Given the description of an element on the screen output the (x, y) to click on. 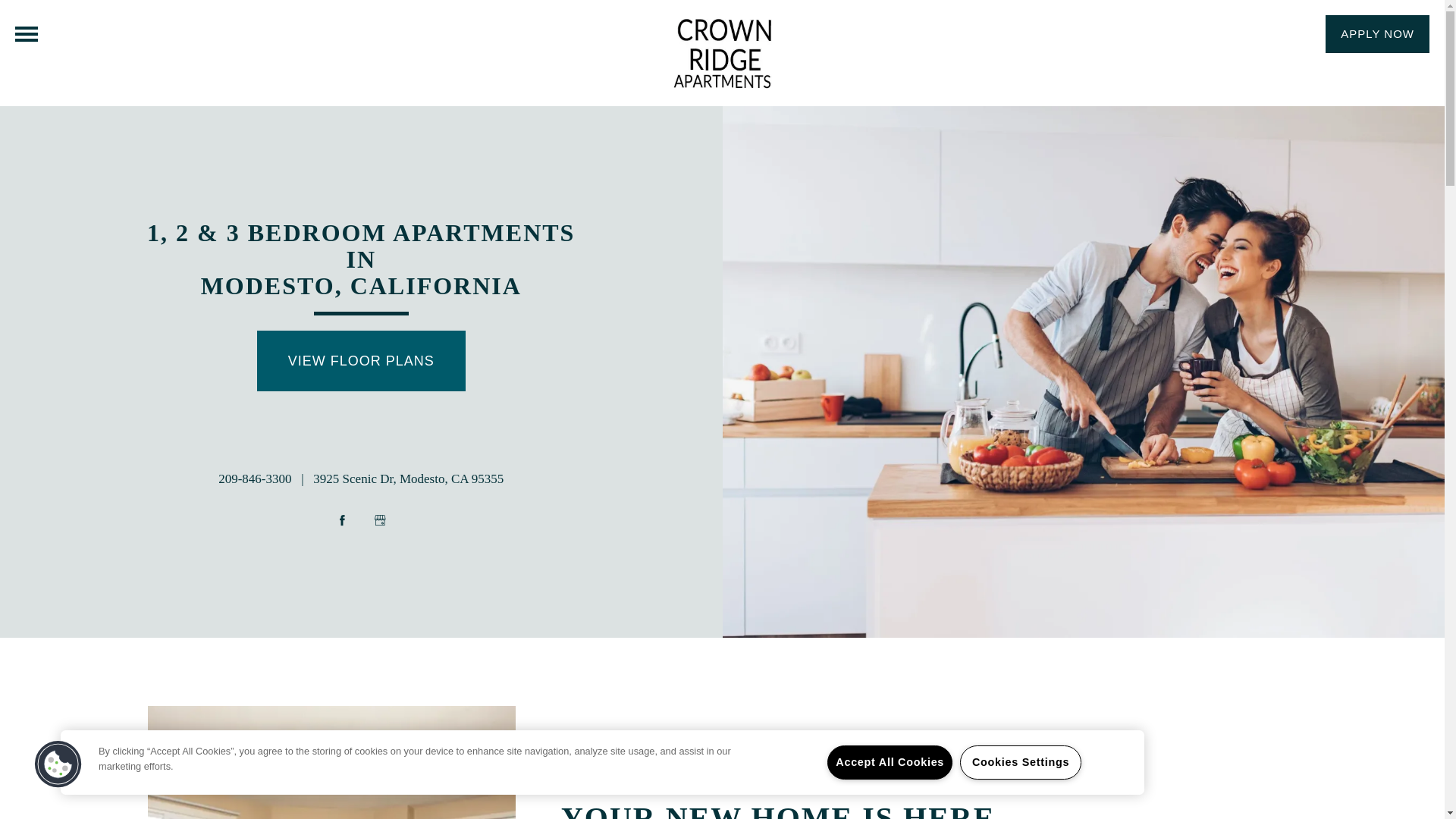
Facebook (341, 520)
VIEW FLOOR PLANS (361, 360)
APPLY NOW (1376, 34)
Cookies Button (57, 764)
Cookies Button (57, 764)
Google My Business (379, 520)
